Given the description of an element on the screen output the (x, y) to click on. 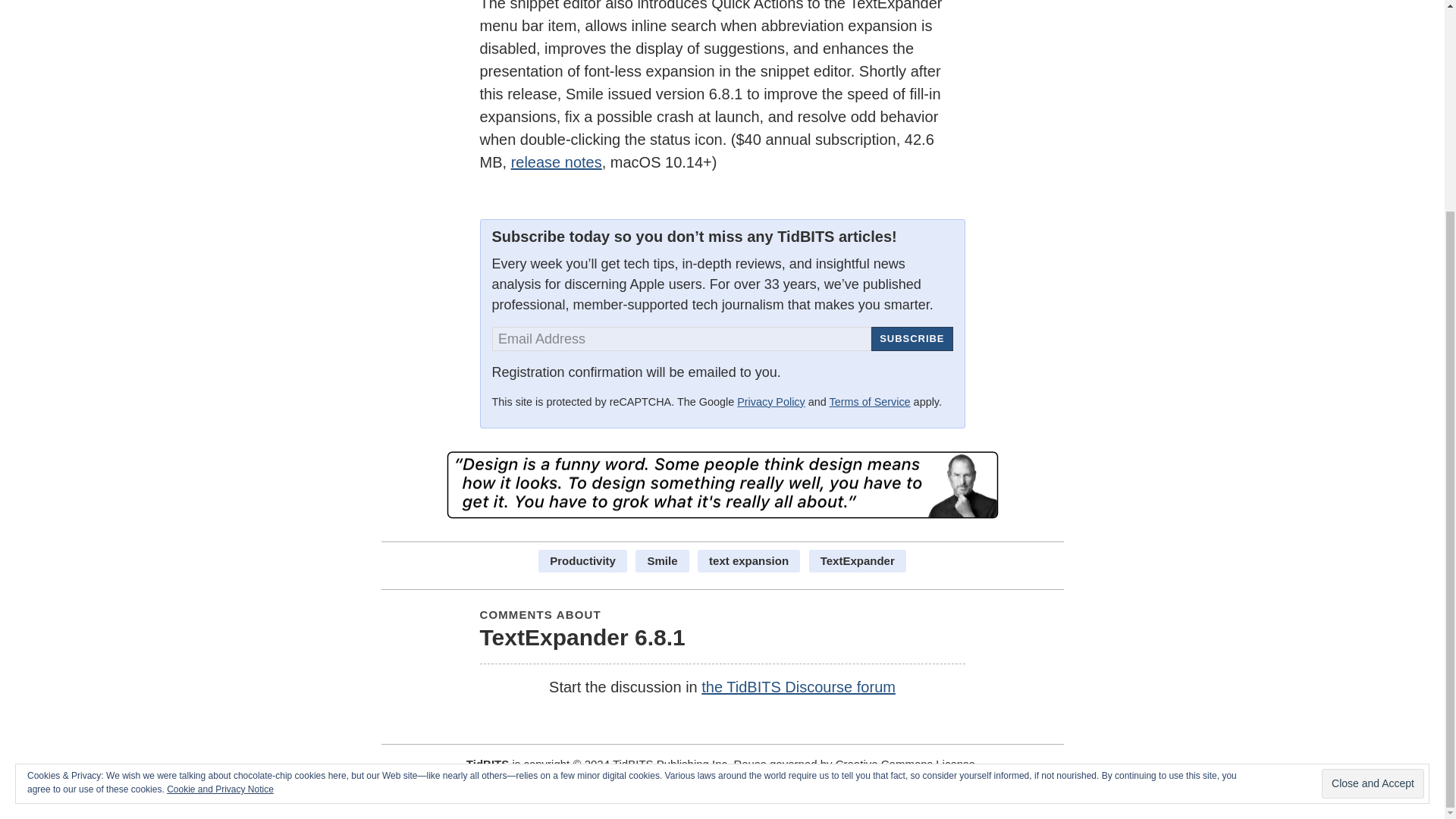
Close and Accept (1372, 508)
